Given the description of an element on the screen output the (x, y) to click on. 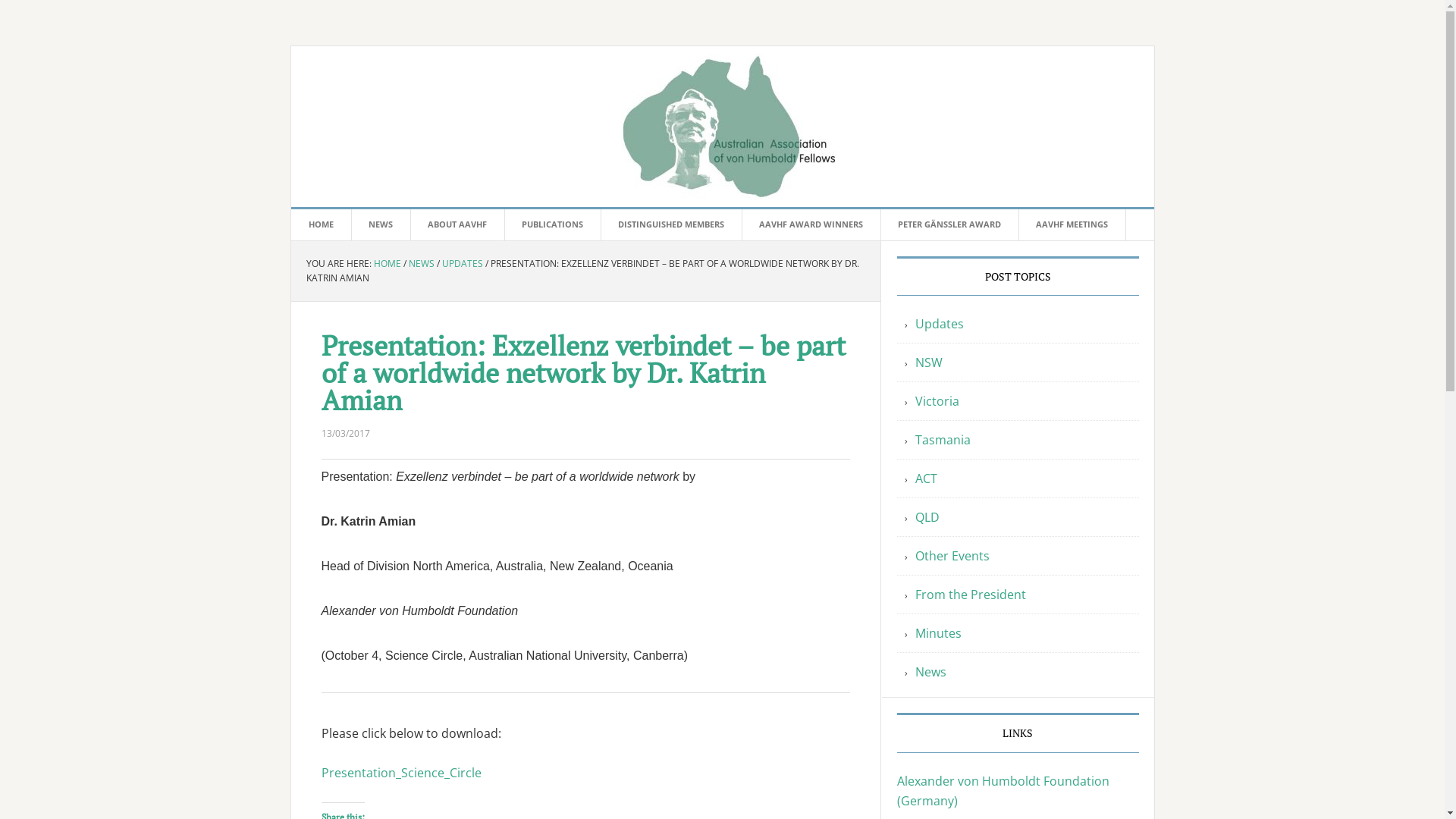
HOME Element type: text (386, 262)
PUBLICATIONS Element type: text (551, 224)
NEWS Element type: text (420, 262)
UPDATES Element type: text (461, 262)
Presentation_Science_Circle Element type: text (401, 772)
Updates Element type: text (938, 323)
ACT Element type: text (925, 478)
QLD Element type: text (926, 516)
Other Events Element type: text (951, 555)
Tasmania Element type: text (941, 439)
Minutes Element type: text (937, 632)
NEWS Element type: text (380, 224)
AAVHF AWARD WINNERS Element type: text (811, 224)
News Element type: text (929, 671)
ABOUT AAVHF Element type: text (456, 224)
HOME Element type: text (321, 224)
NSW Element type: text (927, 362)
DISTINGUISHED MEMBERS Element type: text (671, 224)
Victoria Element type: text (936, 400)
AUSTRALIAN ASSOCIATION OF VON HUMBOLDT FELLOWS Element type: text (722, 126)
Alexander von Humboldt Foundation (Germany) Element type: text (1002, 790)
AAVHF MEETINGS Element type: text (1071, 224)
From the President Element type: text (969, 594)
